Given the description of an element on the screen output the (x, y) to click on. 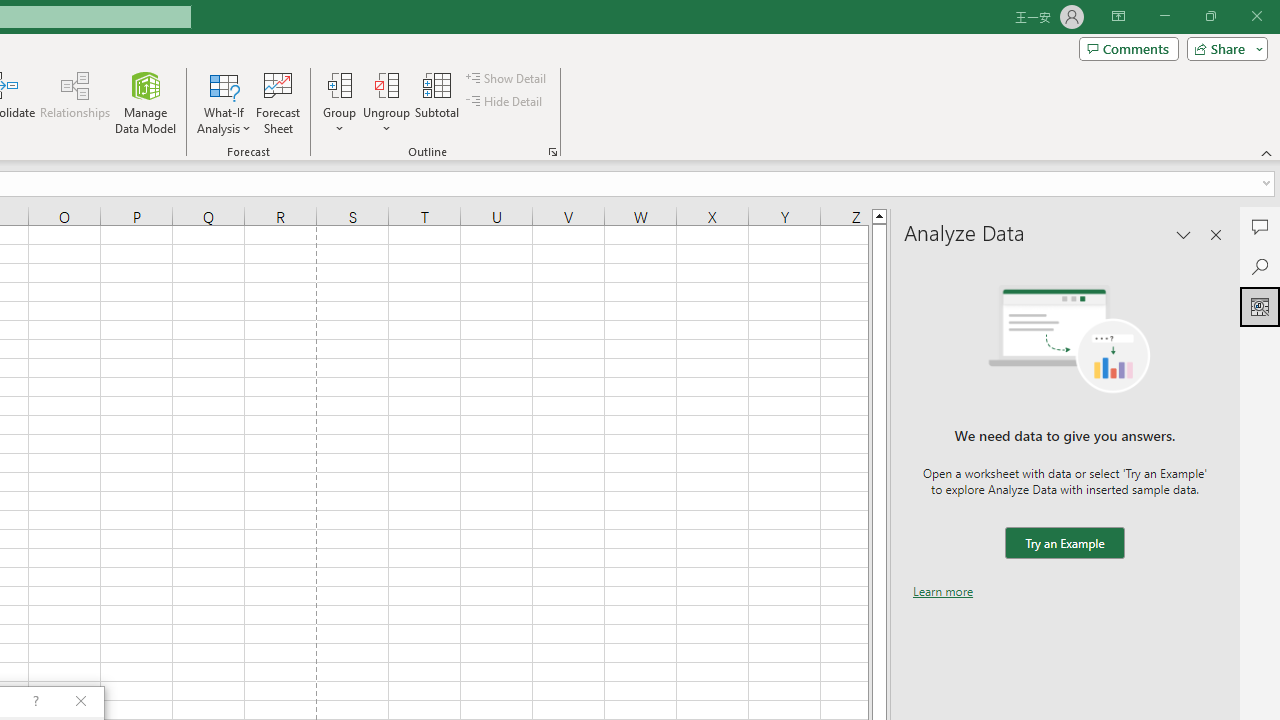
What-If Analysis (223, 102)
Manage Data Model (145, 102)
Group and Outline Settings (552, 151)
Search (1260, 266)
Learn more (943, 591)
Forecast Sheet (278, 102)
Hide Detail (505, 101)
Show Detail (507, 78)
